Given the description of an element on the screen output the (x, y) to click on. 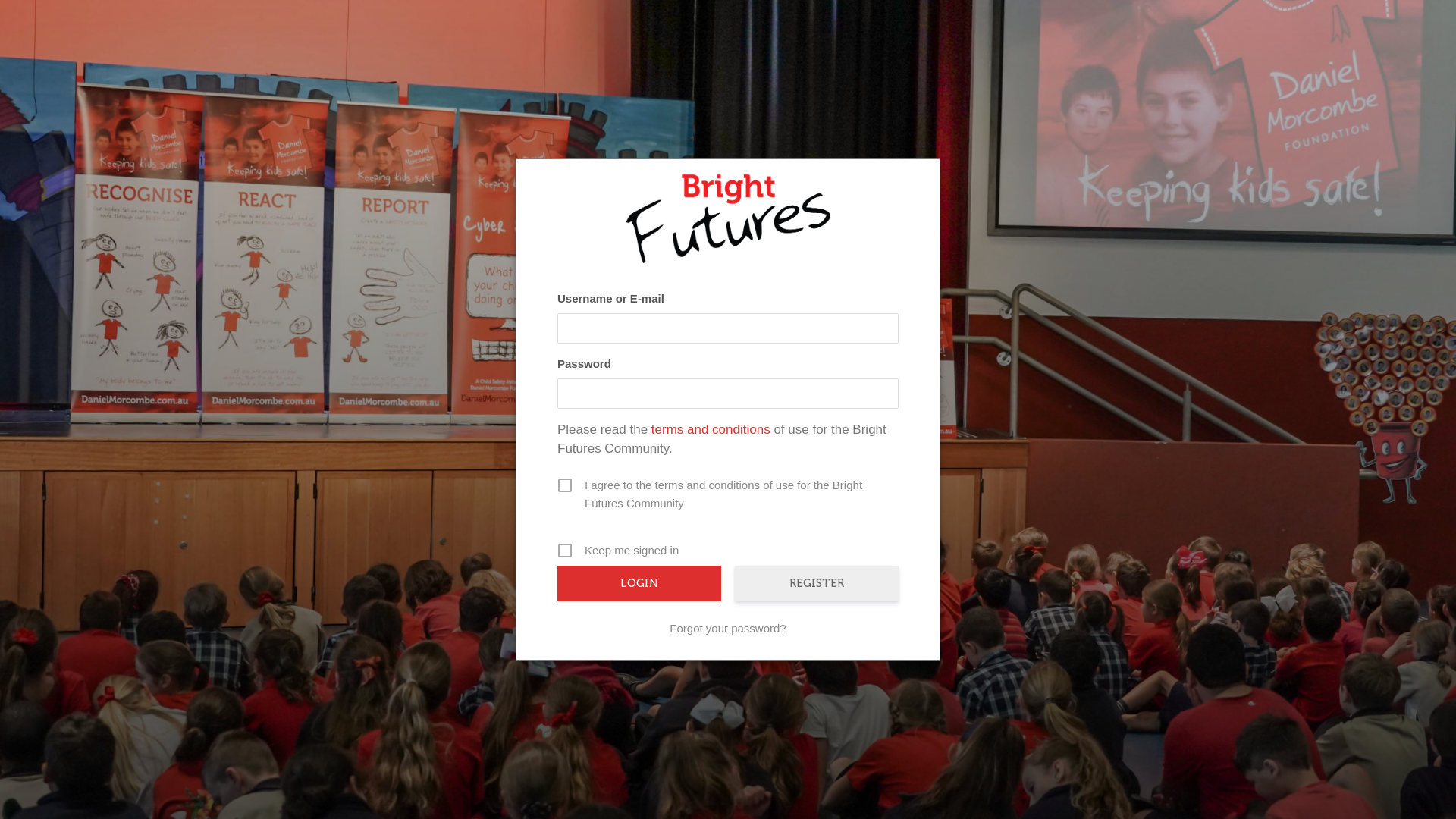
terms and conditions Element type: text (710, 429)
REGISTER Element type: text (816, 583)
Forgot your password? Element type: text (727, 628)
Login Element type: text (639, 583)
